Given the description of an element on the screen output the (x, y) to click on. 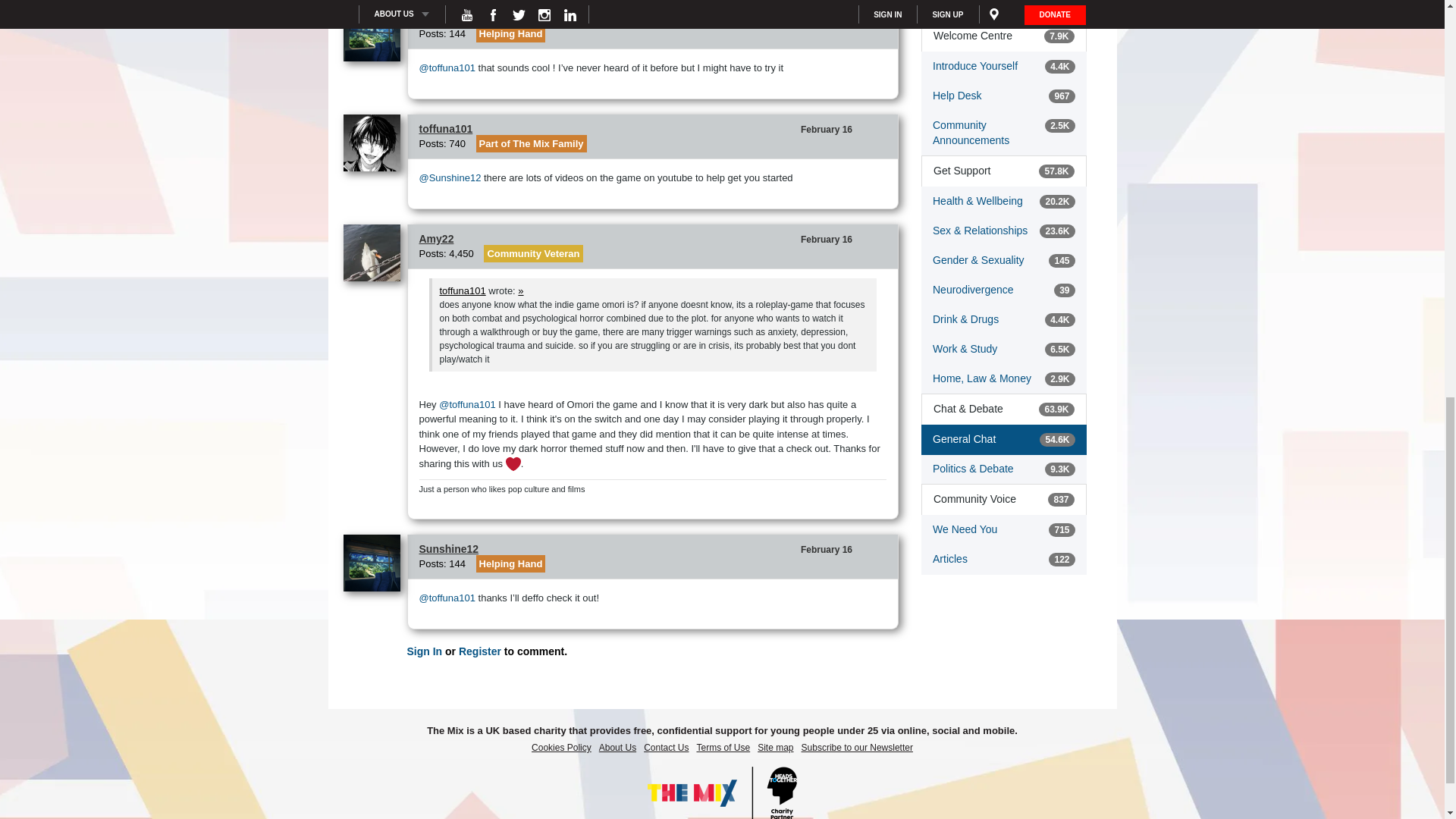
Community Veteran (532, 253)
16 February 2024 22:44 (825, 19)
16 February 2024 22:52 (825, 239)
Amy22 (375, 252)
toffuna101 (375, 142)
7,868 discussions (1058, 36)
Part of The Mix Family (531, 143)
Sunshine12 (375, 32)
Helping Hand (511, 563)
16 February 2024 23:04 (825, 549)
